Given the description of an element on the screen output the (x, y) to click on. 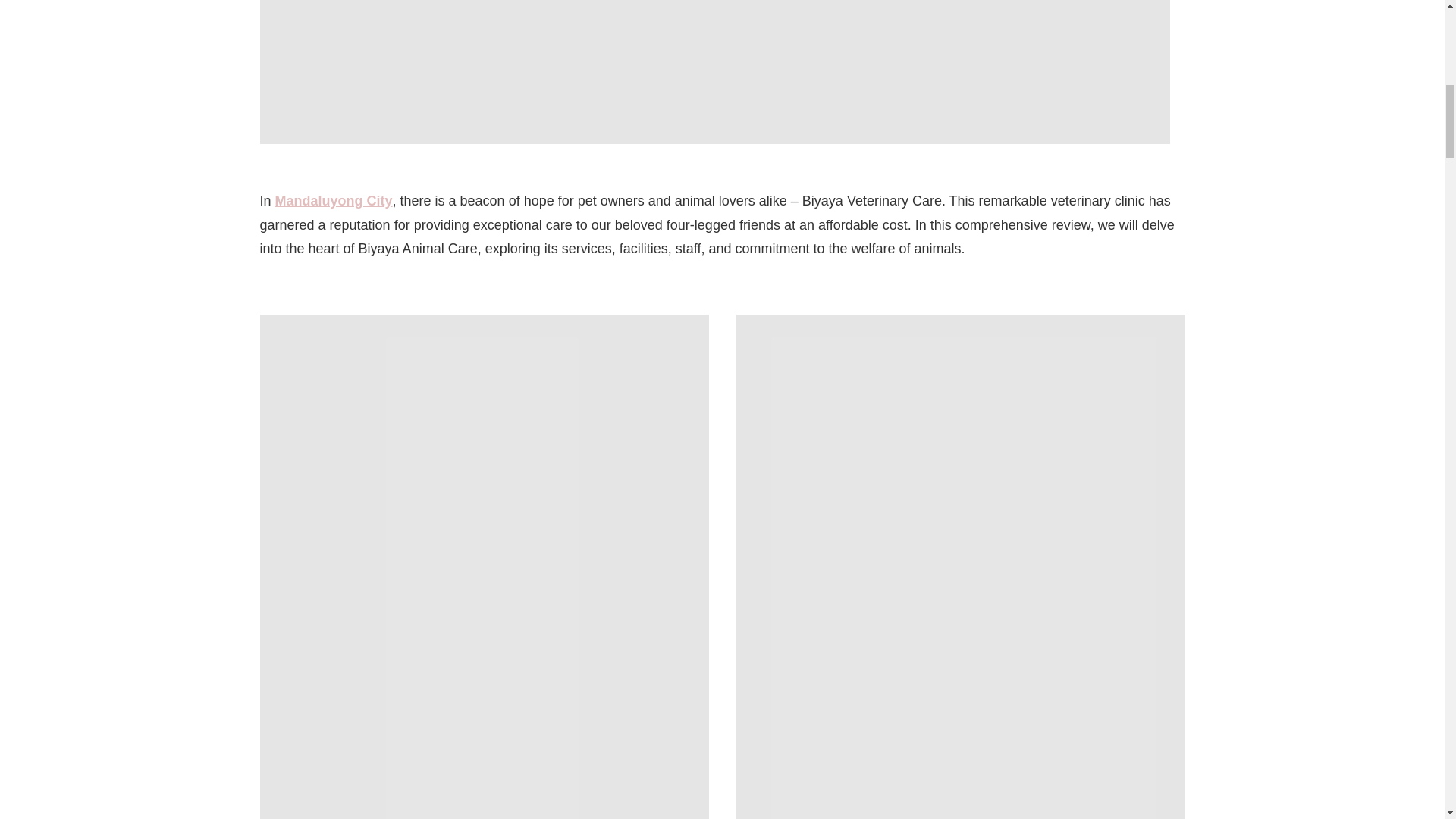
Biyaya Animal Care: Where Compassion Meets Affordability 1 (714, 72)
